Given the description of an element on the screen output the (x, y) to click on. 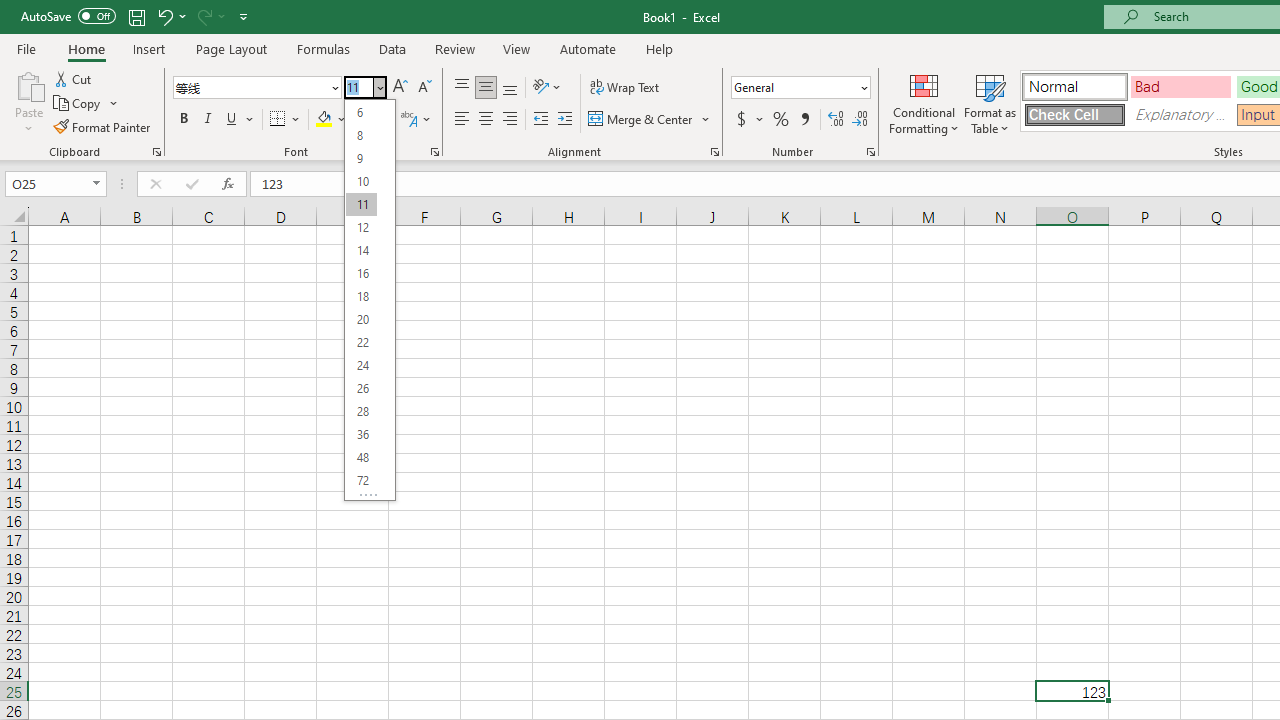
48 (361, 456)
Accounting Number Format (741, 119)
18 (361, 296)
9 (361, 157)
Increase Indent (565, 119)
72 (361, 479)
26 (361, 388)
10 (361, 180)
Format Cell Alignment (714, 151)
Decrease Decimal (859, 119)
Decrease Font Size (424, 87)
Show Phonetic Field (408, 119)
